Given the description of an element on the screen output the (x, y) to click on. 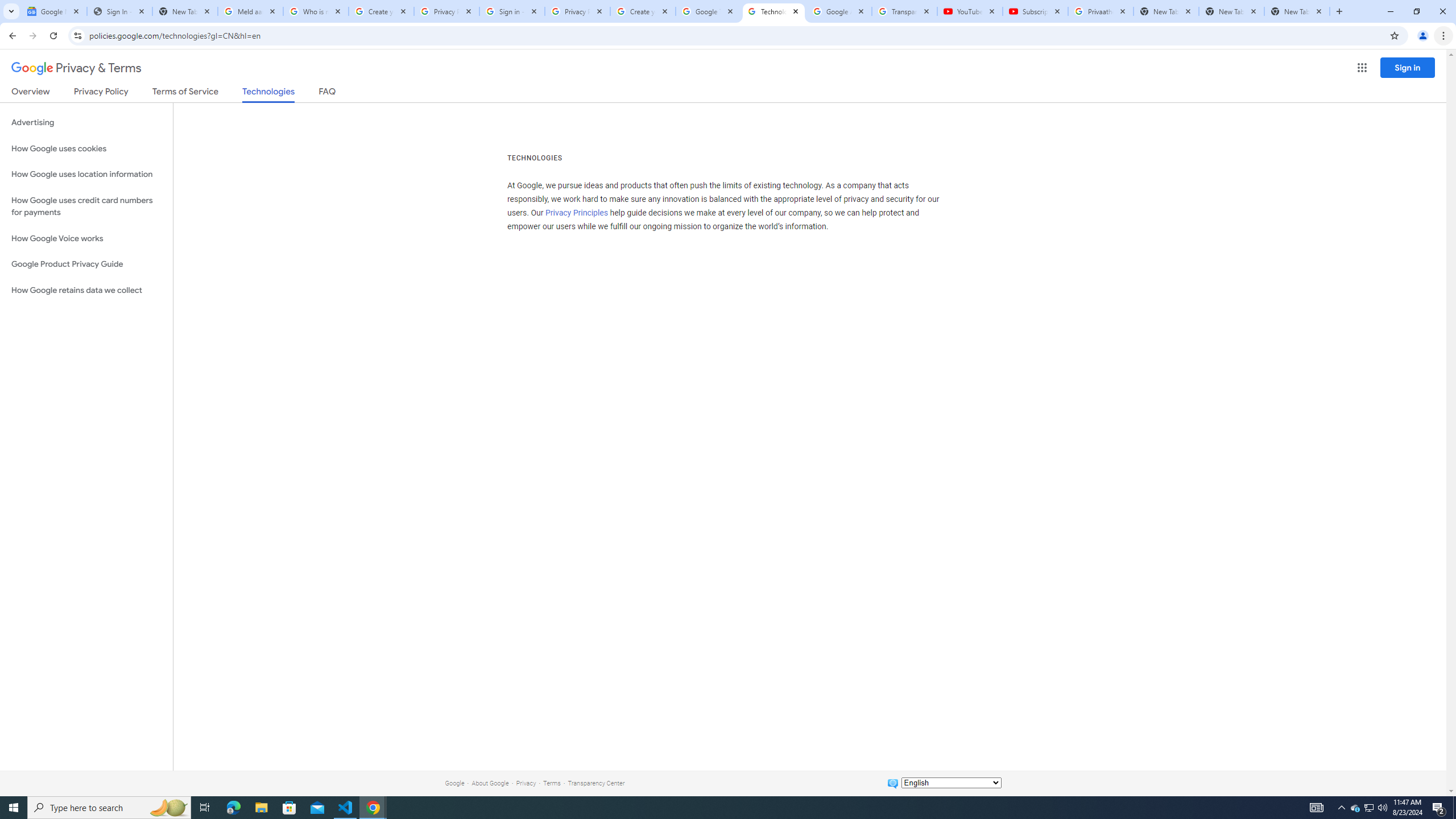
How Google uses credit card numbers for payments (86, 206)
Create your Google Account (643, 11)
FAQ (327, 93)
Terms (551, 783)
Privacy & Terms (76, 68)
Privacy (525, 783)
Google Account (838, 11)
Privacy Principles (577, 213)
